Given the description of an element on the screen output the (x, y) to click on. 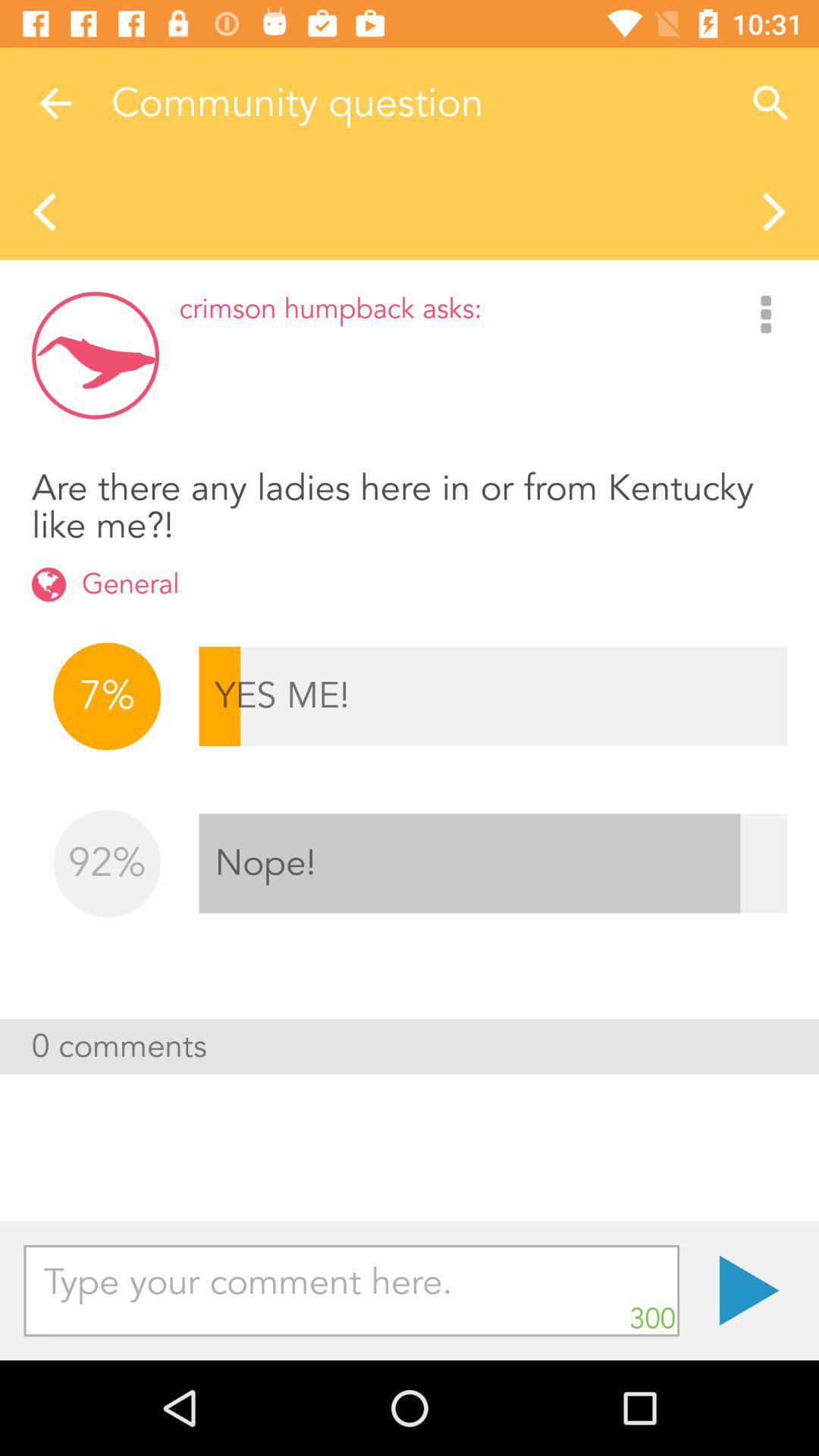
launch the icon to the right of crimson humpback asks: (766, 315)
